Given the description of an element on the screen output the (x, y) to click on. 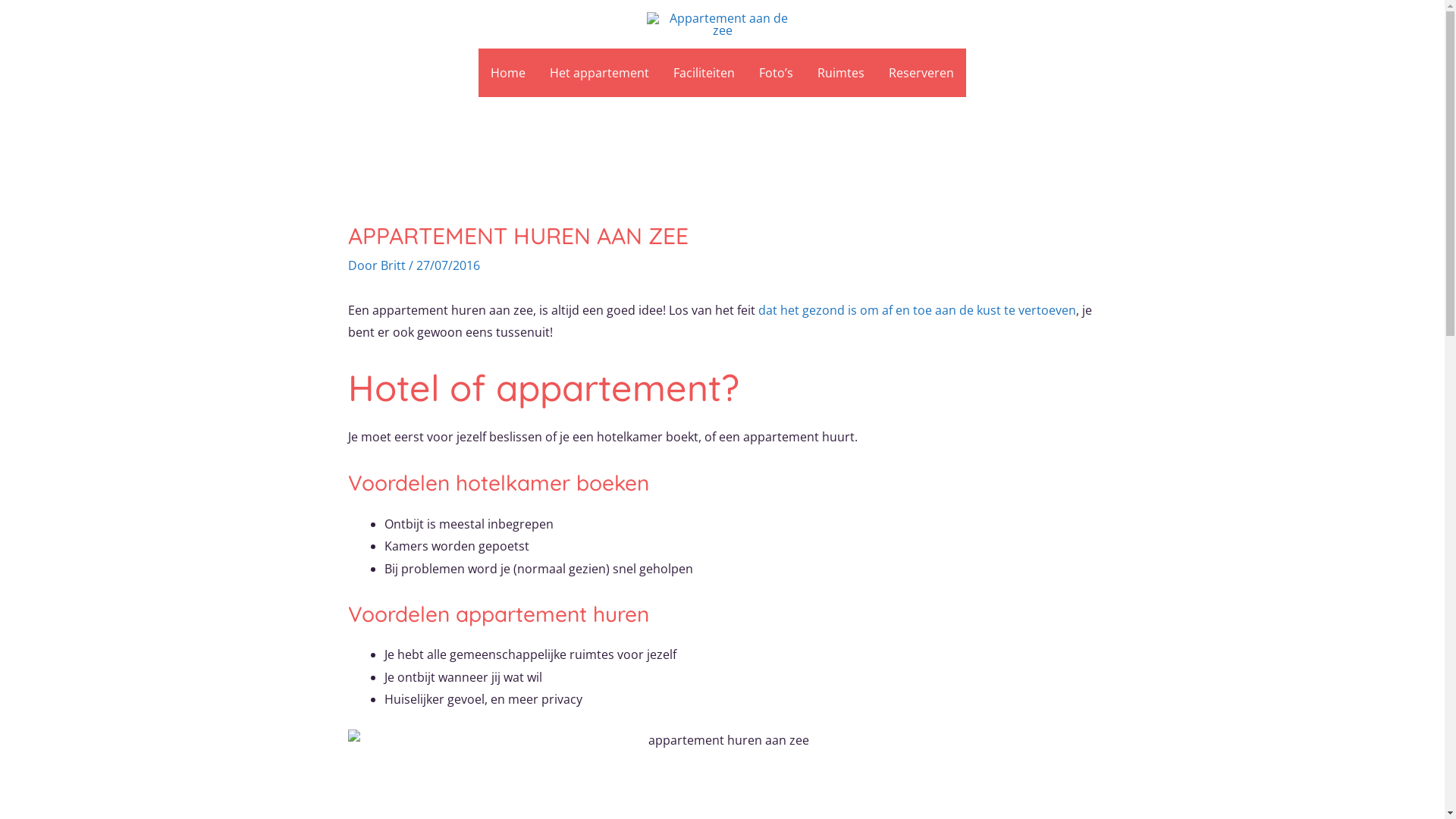
Reserveren Element type: text (921, 72)
Faciliteiten Element type: text (703, 72)
Ruimtes Element type: text (840, 72)
Het appartement Element type: text (599, 72)
dat het gezond is om af en toe aan de kust te vertoeven Element type: text (917, 309)
Home Element type: text (507, 72)
Britt Element type: text (394, 265)
